Given the description of an element on the screen output the (x, y) to click on. 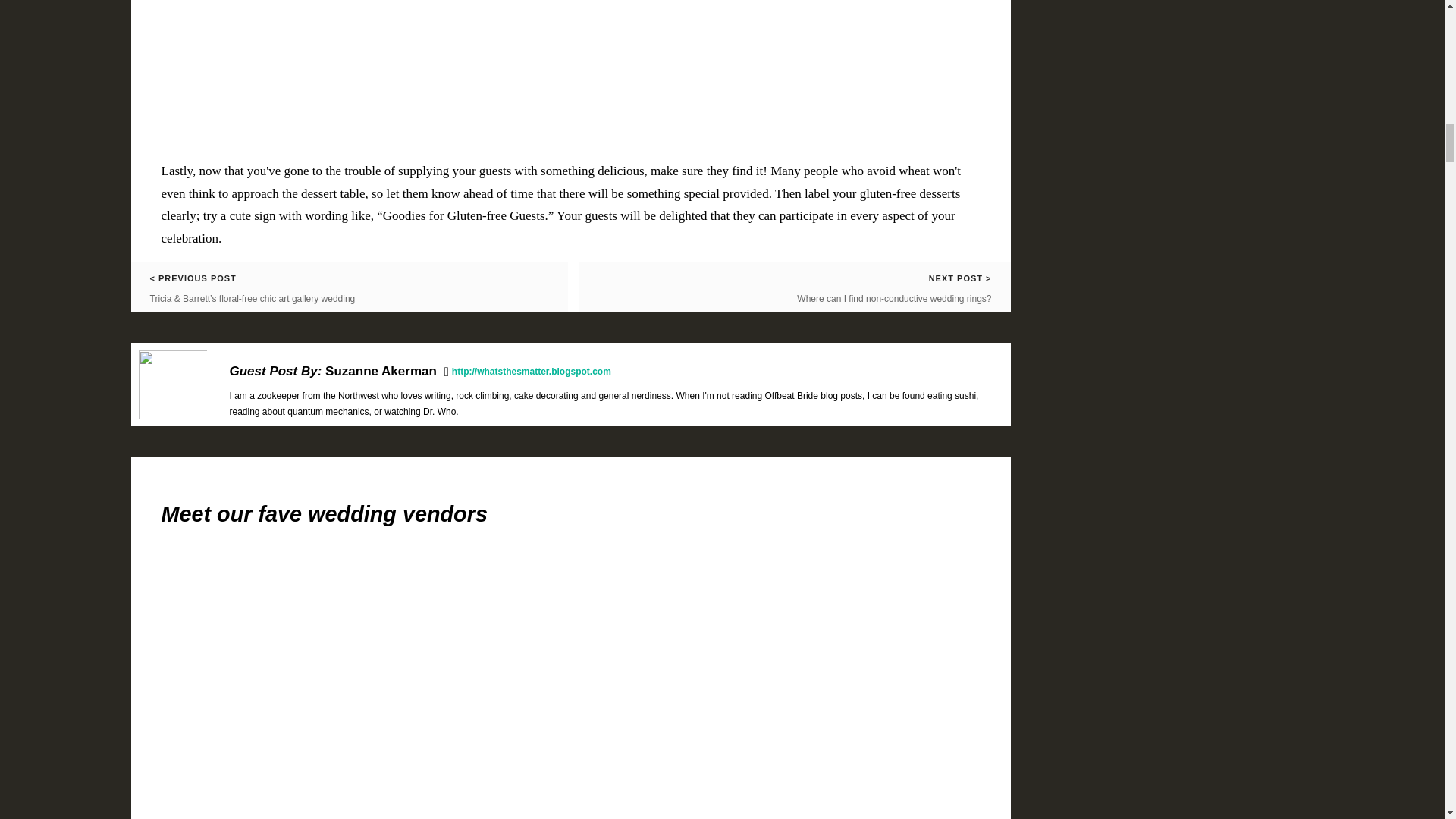
Wulgaria Store (251, 763)
Vigilante Labs (676, 763)
Where can I find non-conductive wedding rings? (893, 298)
Alive Network Entertainment Agency (888, 763)
WULGARIA STORE (251, 763)
ColorQuarry (463, 763)
